Given the description of an element on the screen output the (x, y) to click on. 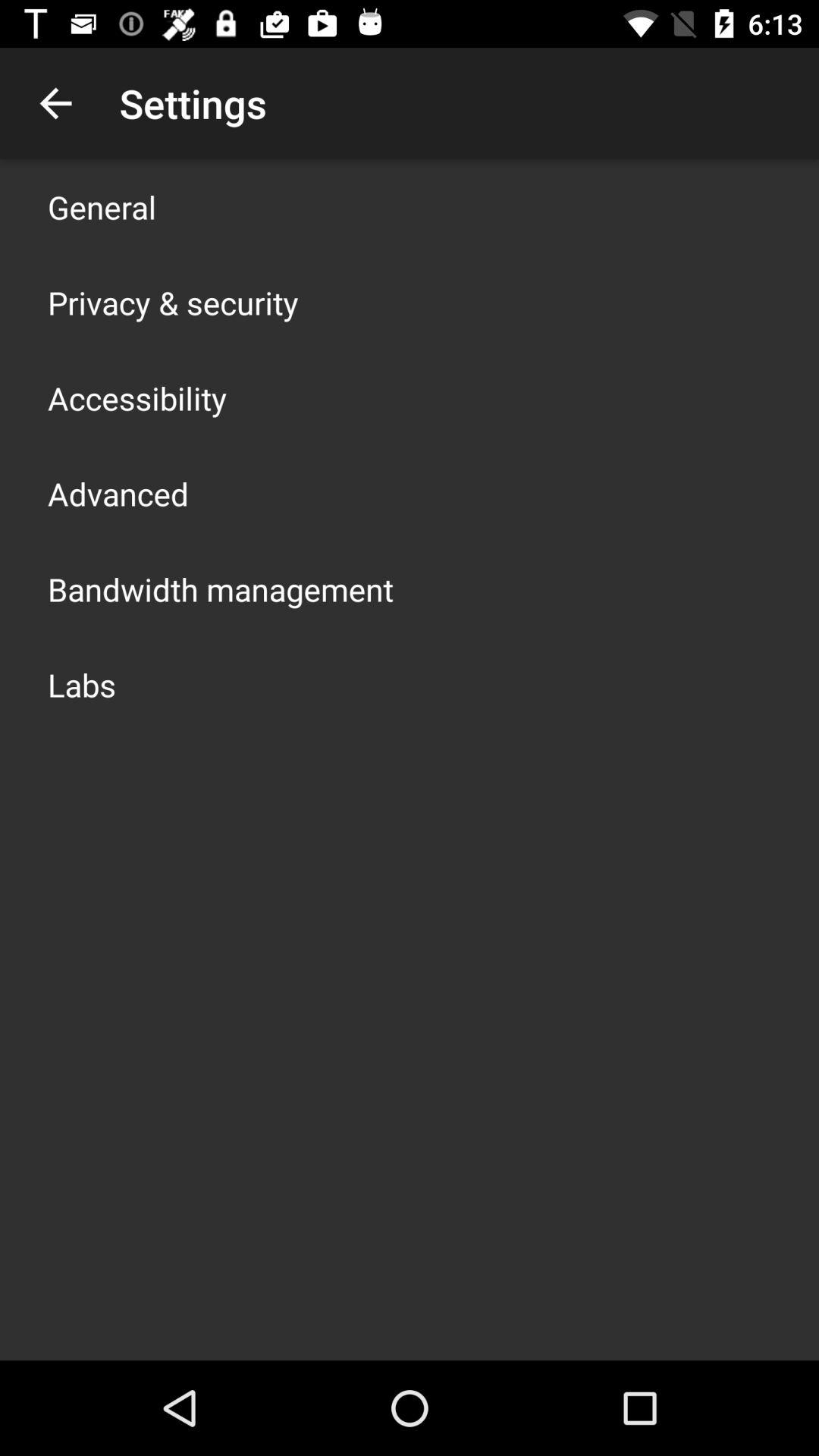
scroll until accessibility (136, 397)
